Given the description of an element on the screen output the (x, y) to click on. 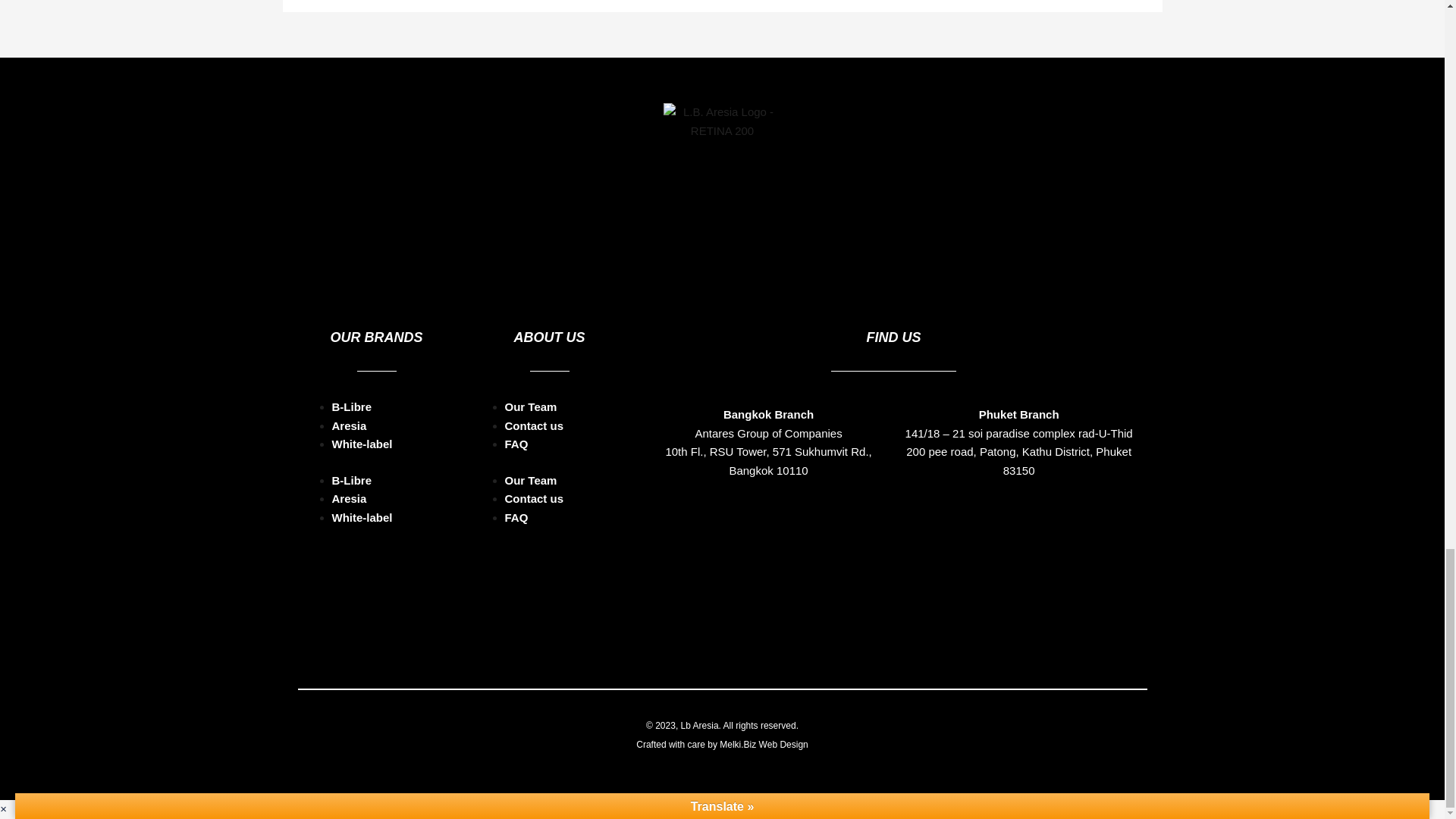
Aresia (348, 425)
White-label (362, 517)
Aresia (348, 498)
White-label (362, 443)
Melki.Biz Web Design (763, 744)
B-Libre (351, 406)
B-Libre (351, 480)
